Given the description of an element on the screen output the (x, y) to click on. 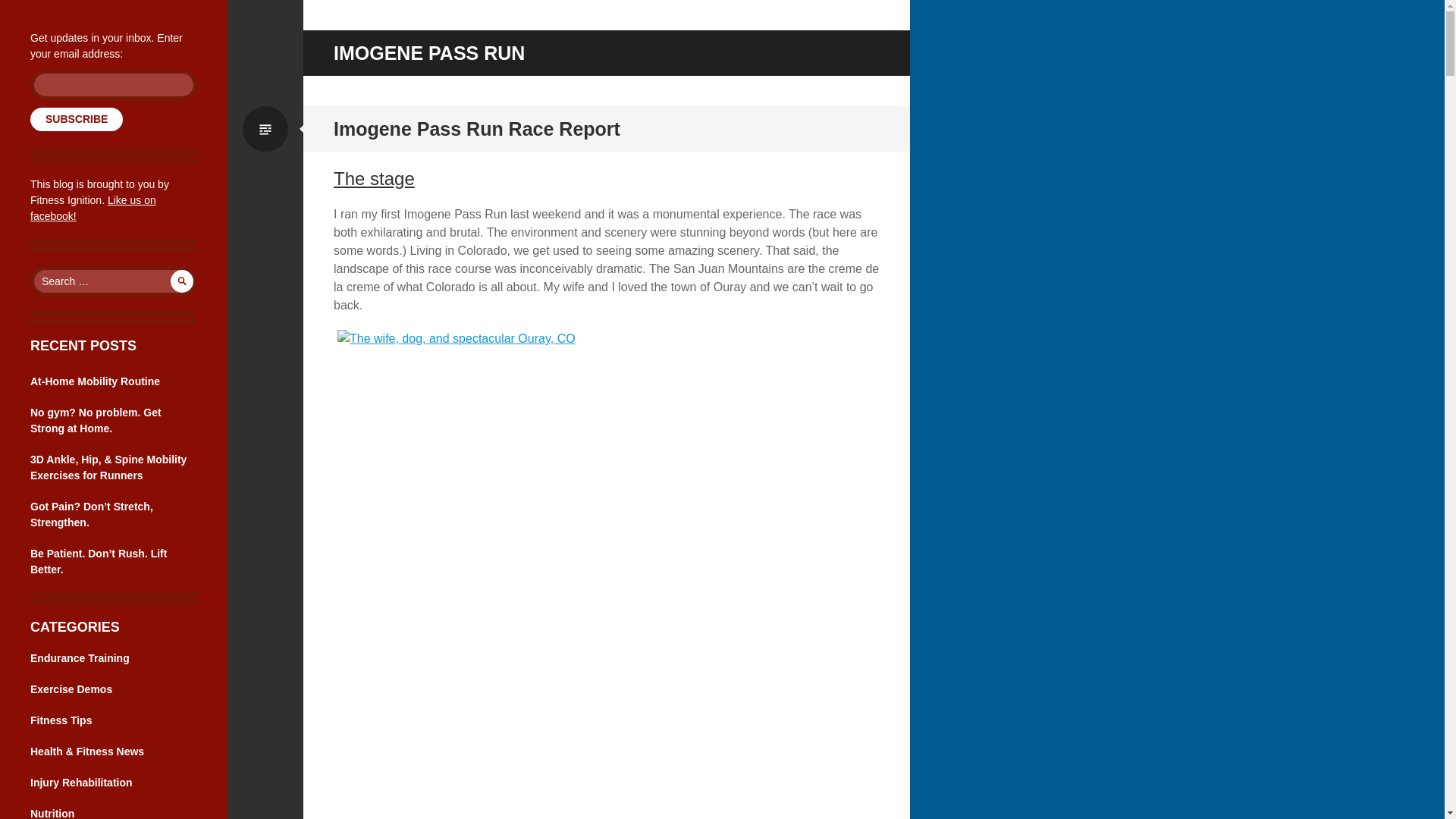
Exercise Demos (71, 689)
At-Home Mobility Routine (95, 381)
Like us on facebook! (92, 207)
No gym? No problem. Get Strong at Home. (95, 420)
Subscribe (76, 119)
Nutrition (52, 813)
Subscribe (76, 119)
Fitness Tips (60, 720)
Injury Rehabilitation (81, 782)
Imogene Pass Run Race Report (476, 128)
Endurance Training (79, 657)
Search for: (113, 281)
